Given the description of an element on the screen output the (x, y) to click on. 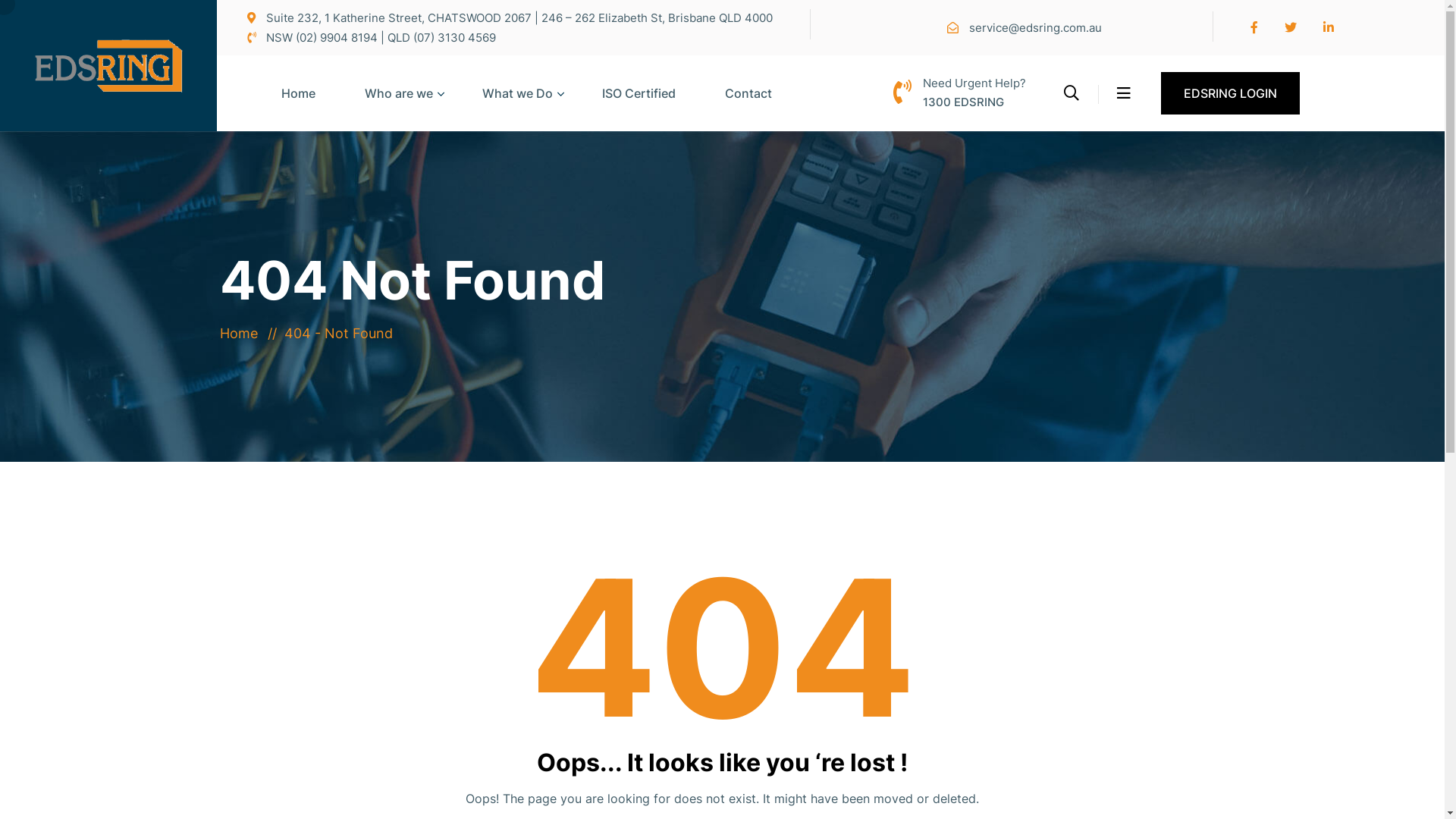
What we Do Element type: text (517, 108)
EDSRING LOGIN Element type: text (1230, 93)
(02) 9904 8194 Element type: text (336, 37)
Contact Element type: text (748, 108)
ISO Certified Element type: text (638, 108)
Home   Element type: text (242, 333)
(07) 3130 4569 Element type: text (454, 37)
Suite 232, 1 Katherine Street, CHATSWOOD 2067 Element type: text (400, 17)
Who are we Element type: text (398, 108)
1300 EDSRING Element type: text (963, 101)
service@edsring.com.au Element type: text (1035, 27)
Home Element type: text (297, 108)
